Given the description of an element on the screen output the (x, y) to click on. 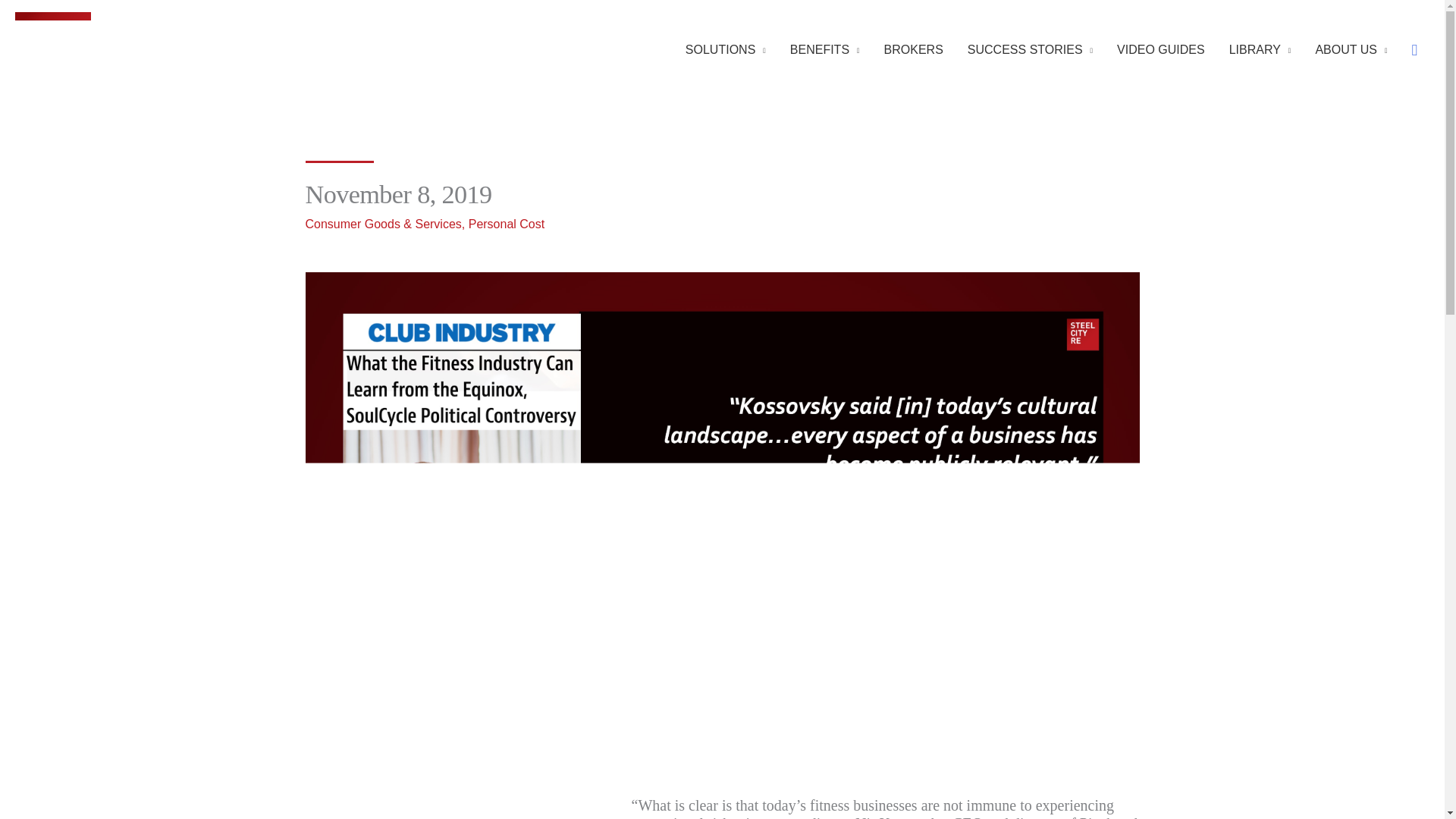
LIBRARY (1260, 49)
BENEFITS (824, 49)
SOLUTIONS (724, 49)
VIDEO GUIDES (1161, 49)
BROKERS (913, 49)
ABOUT US (1351, 49)
SUCCESS STORIES (1030, 49)
